Given the description of an element on the screen output the (x, y) to click on. 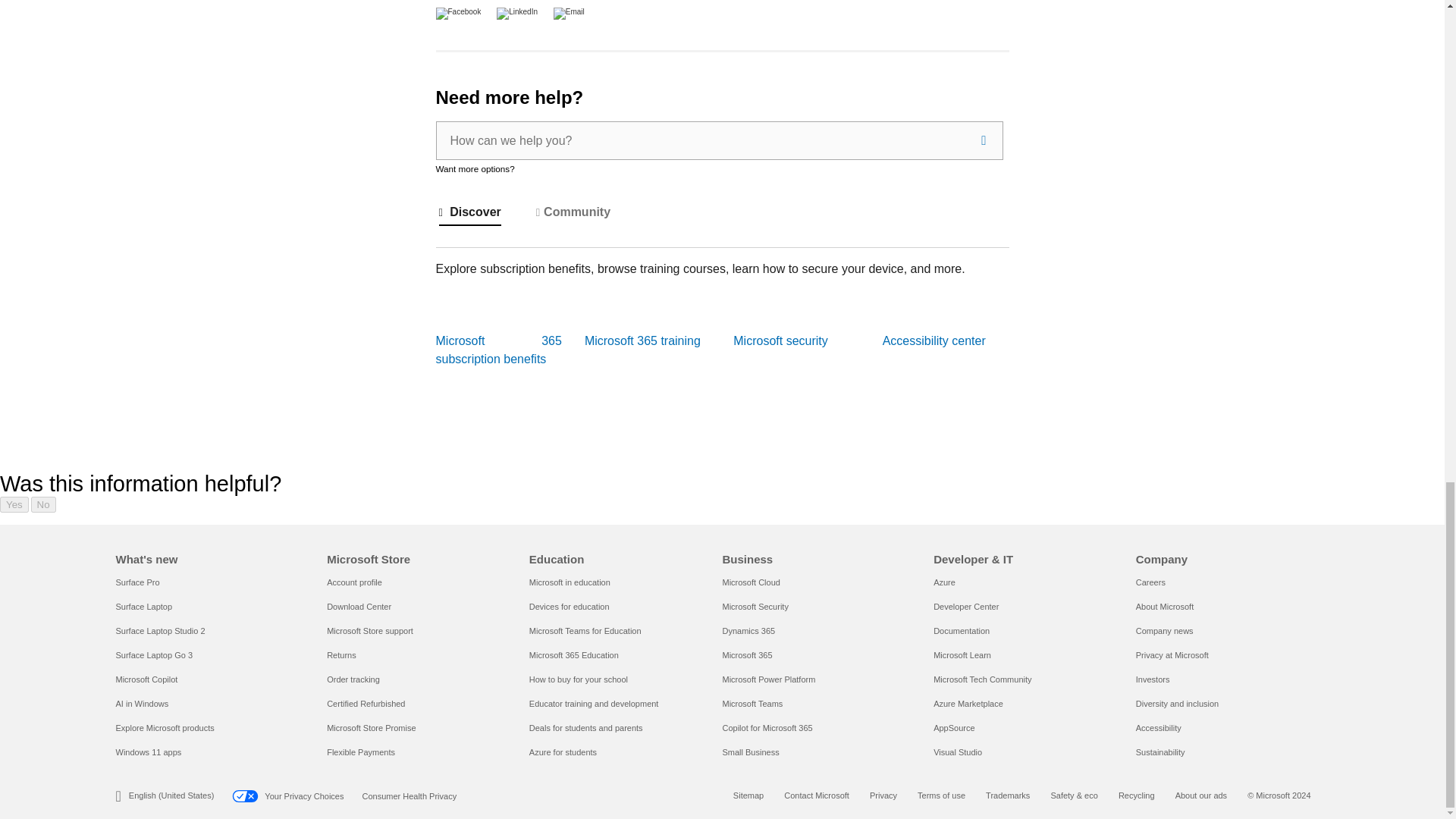
Share on LinkedIn (511, 10)
Search (983, 140)
Share by email (562, 10)
Share on Facebook (459, 10)
